Given the description of an element on the screen output the (x, y) to click on. 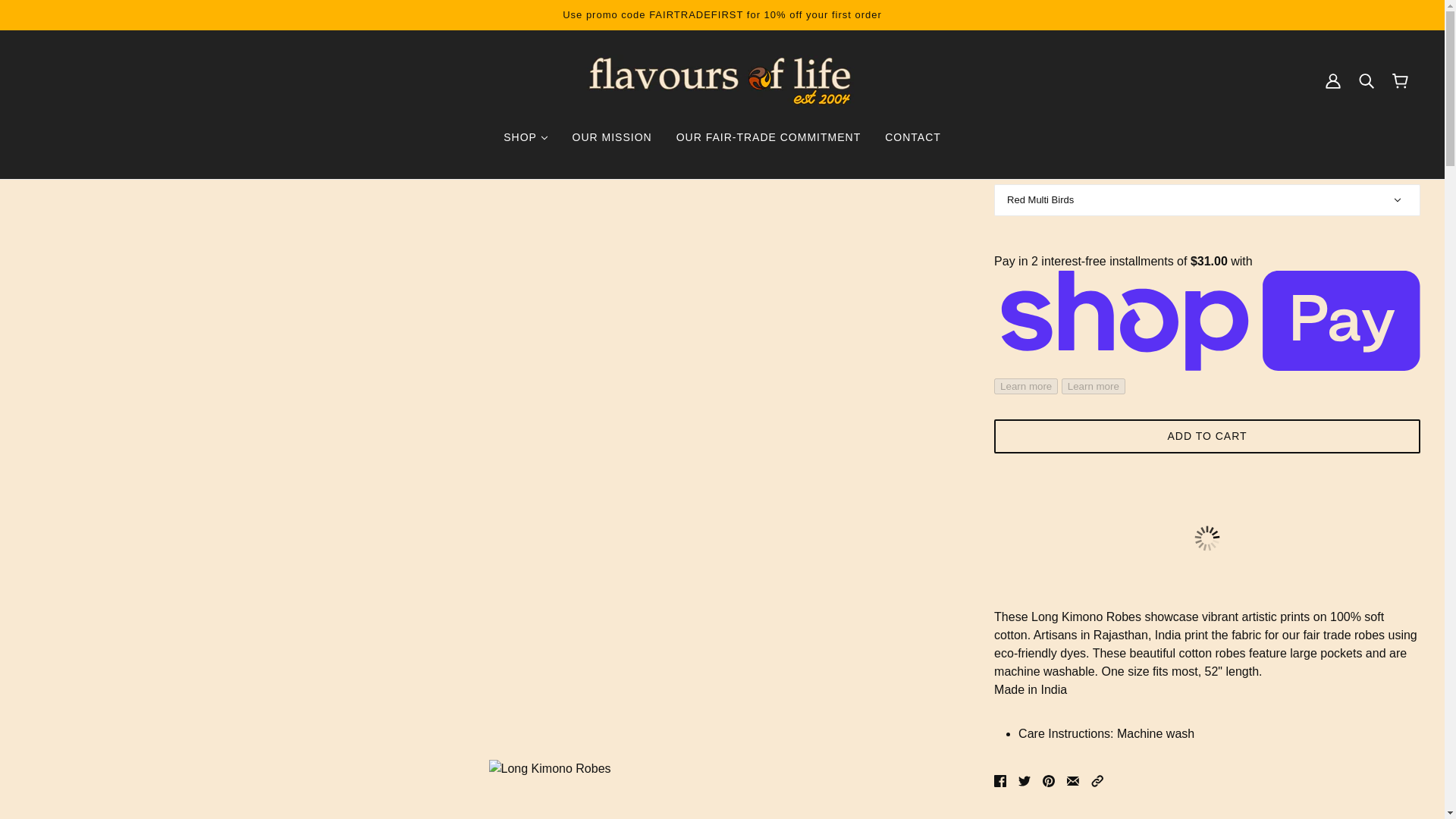
Flavours of Life (721, 80)
OUR FAIR-TRADE COMMITMENT (768, 136)
ADD TO CART (1207, 436)
CONTACT (912, 136)
SHOP  (525, 136)
Products (1054, 60)
Home (1007, 60)
OUR MISSION (611, 136)
Red Multi Birds (1207, 200)
